Given the description of an element on the screen output the (x, y) to click on. 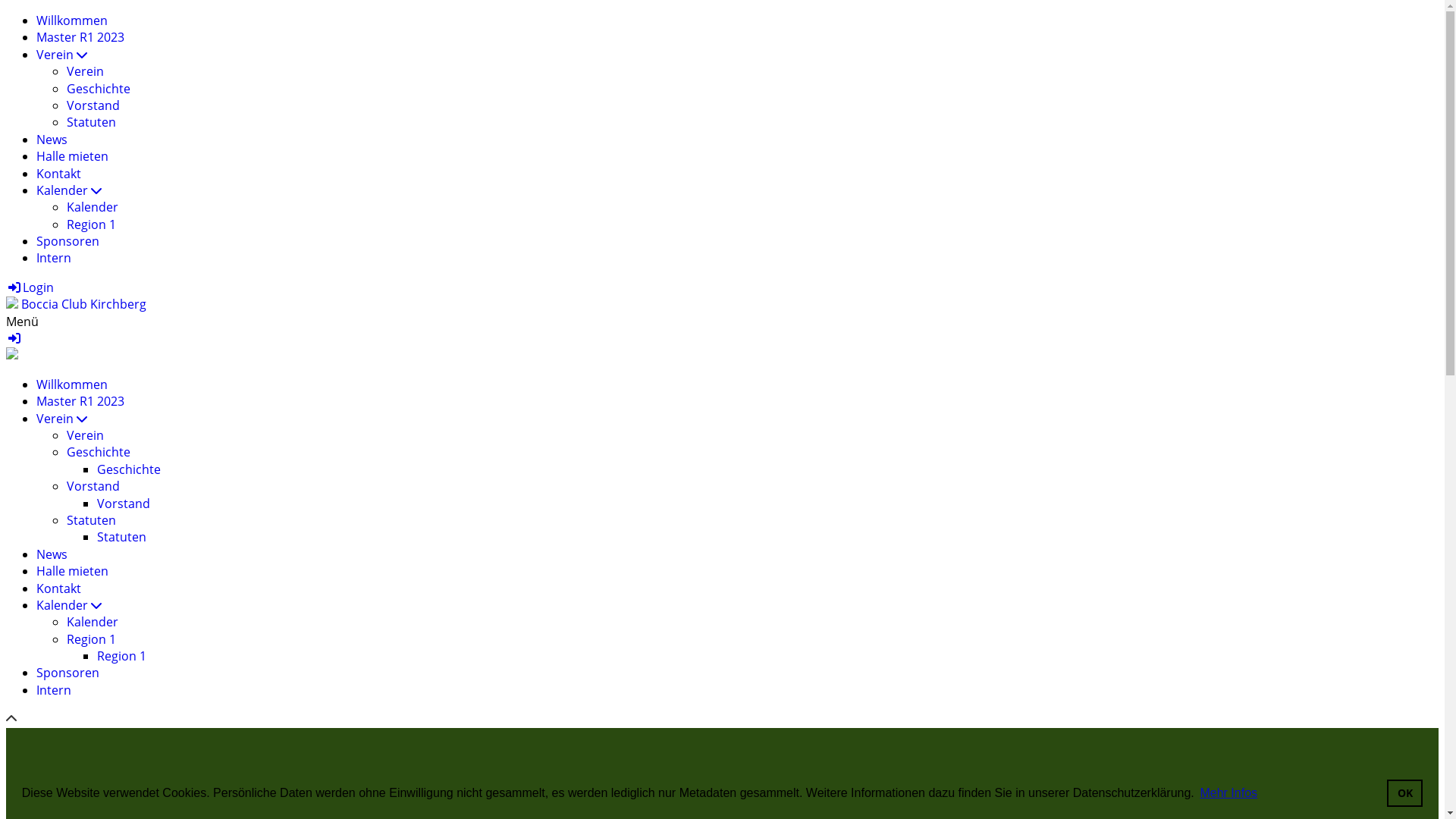
Verein Element type: text (61, 418)
Geschichte Element type: text (128, 469)
Statuten Element type: text (91, 519)
Sponsoren Element type: text (67, 672)
Willkommen Element type: text (71, 384)
Kalender Element type: text (68, 190)
Kalender Element type: text (92, 206)
Master R1 2023 Element type: text (80, 400)
Statuten Element type: text (121, 536)
Verein Element type: text (61, 54)
Kontakt Element type: text (58, 173)
Willkommen Element type: text (71, 20)
Login Element type: text (29, 287)
Vorstand Element type: text (123, 503)
News Element type: text (51, 139)
Vorstand Element type: text (92, 105)
News Element type: text (51, 554)
Region 1 Element type: text (91, 224)
Region 1 Element type: text (121, 655)
OK Element type: text (1404, 792)
Intern Element type: text (53, 257)
Sponsoren Element type: text (67, 240)
Boccia Club Kirchberg Element type: text (83, 303)
Kontakt Element type: text (58, 587)
Mehr Infos Element type: text (1228, 792)
Kalender Element type: text (68, 604)
Region 1 Element type: text (91, 638)
Intern Element type: text (53, 689)
Halle mieten Element type: text (72, 155)
Vorstand Element type: text (92, 485)
Geschichte Element type: text (98, 88)
Halle mieten Element type: text (72, 570)
Statuten Element type: text (91, 121)
Geschichte Element type: text (98, 451)
Kalender Element type: text (92, 621)
Master R1 2023 Element type: text (80, 36)
Verein Element type: text (84, 70)
Verein Element type: text (84, 434)
